Given the description of an element on the screen output the (x, y) to click on. 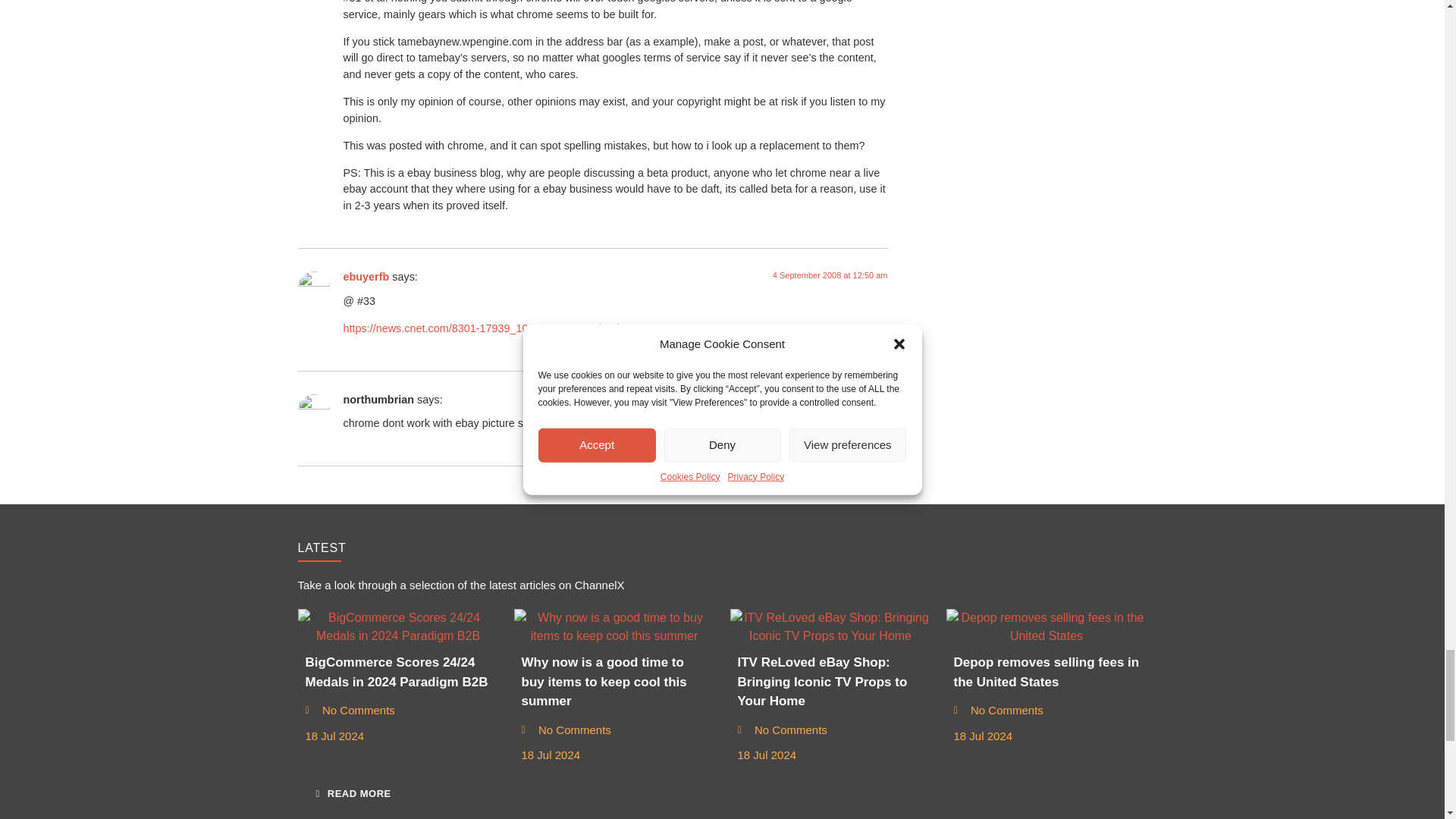
BigCommerce Scores 24 out of 24 Medals in 2024 Paradigm B2B (397, 627)
Depop removes selling fees in the United States (1046, 627)
ITV ReLoved eBay Shop: Bringing Iconic TV Props to Your Home (829, 627)
Why now is a good time to buy items to keep cool this summer (613, 627)
